Given the description of an element on the screen output the (x, y) to click on. 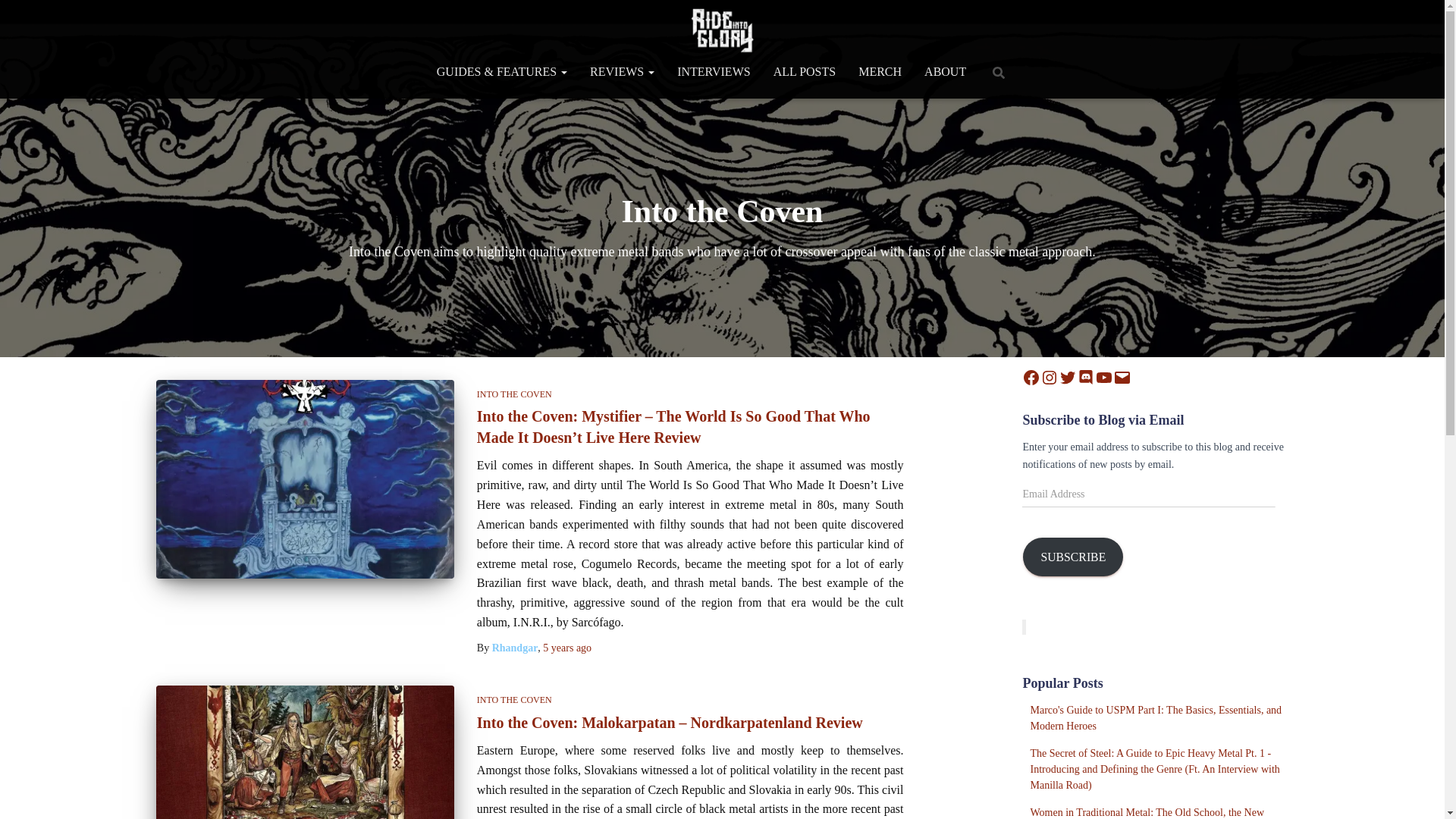
Rhandgar (515, 647)
ABOUT (944, 71)
5 years ago (567, 647)
ALL POSTS (804, 71)
INTO THE COVEN (514, 394)
INTERVIEWS (713, 71)
MERCH (879, 71)
Reviews (621, 71)
INTO THE COVEN (514, 699)
Ride Into Glory (721, 30)
REVIEWS (621, 71)
